Given the description of an element on the screen output the (x, y) to click on. 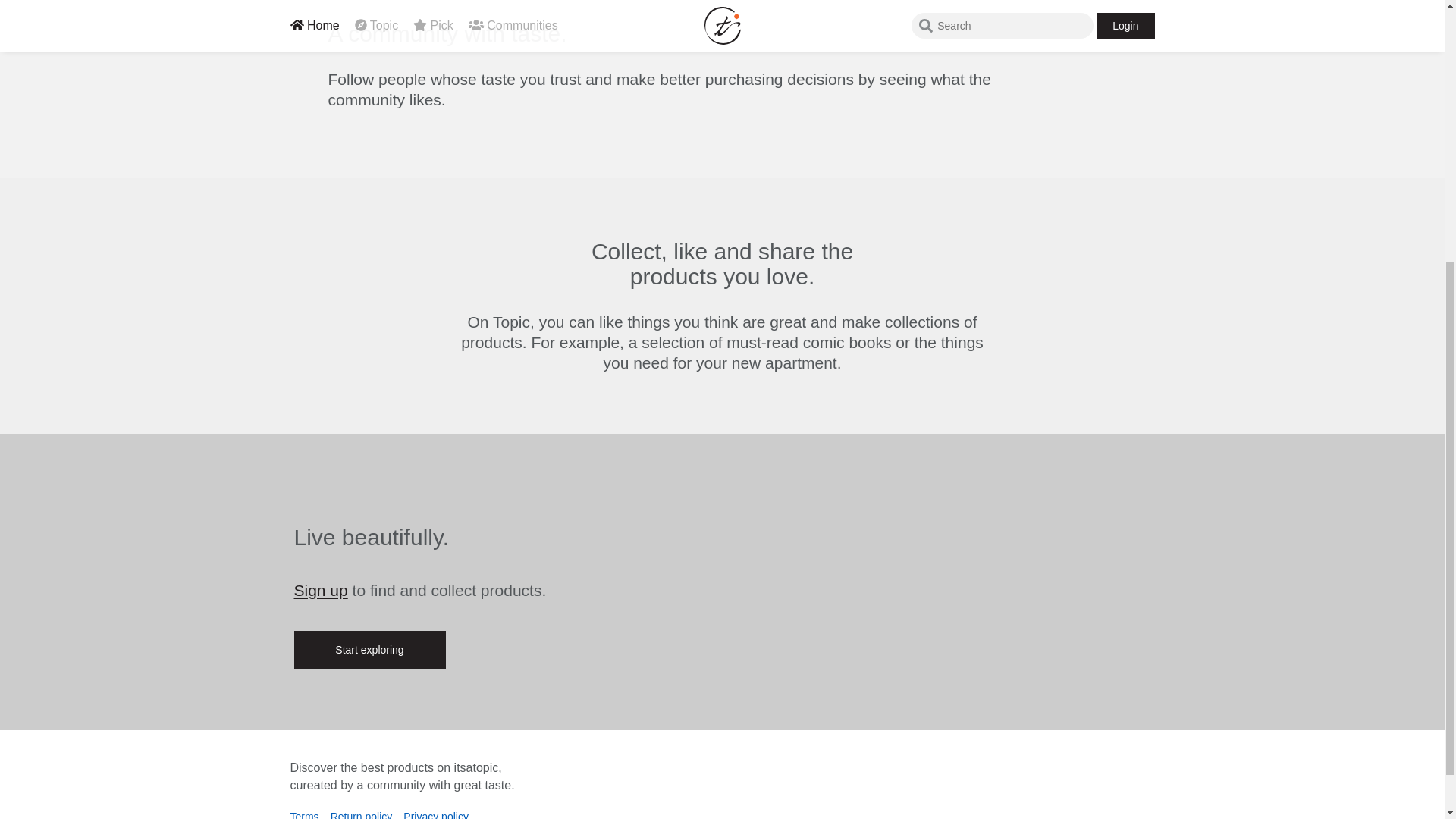
Sign up (320, 589)
Start exploring (369, 649)
